Given the description of an element on the screen output the (x, y) to click on. 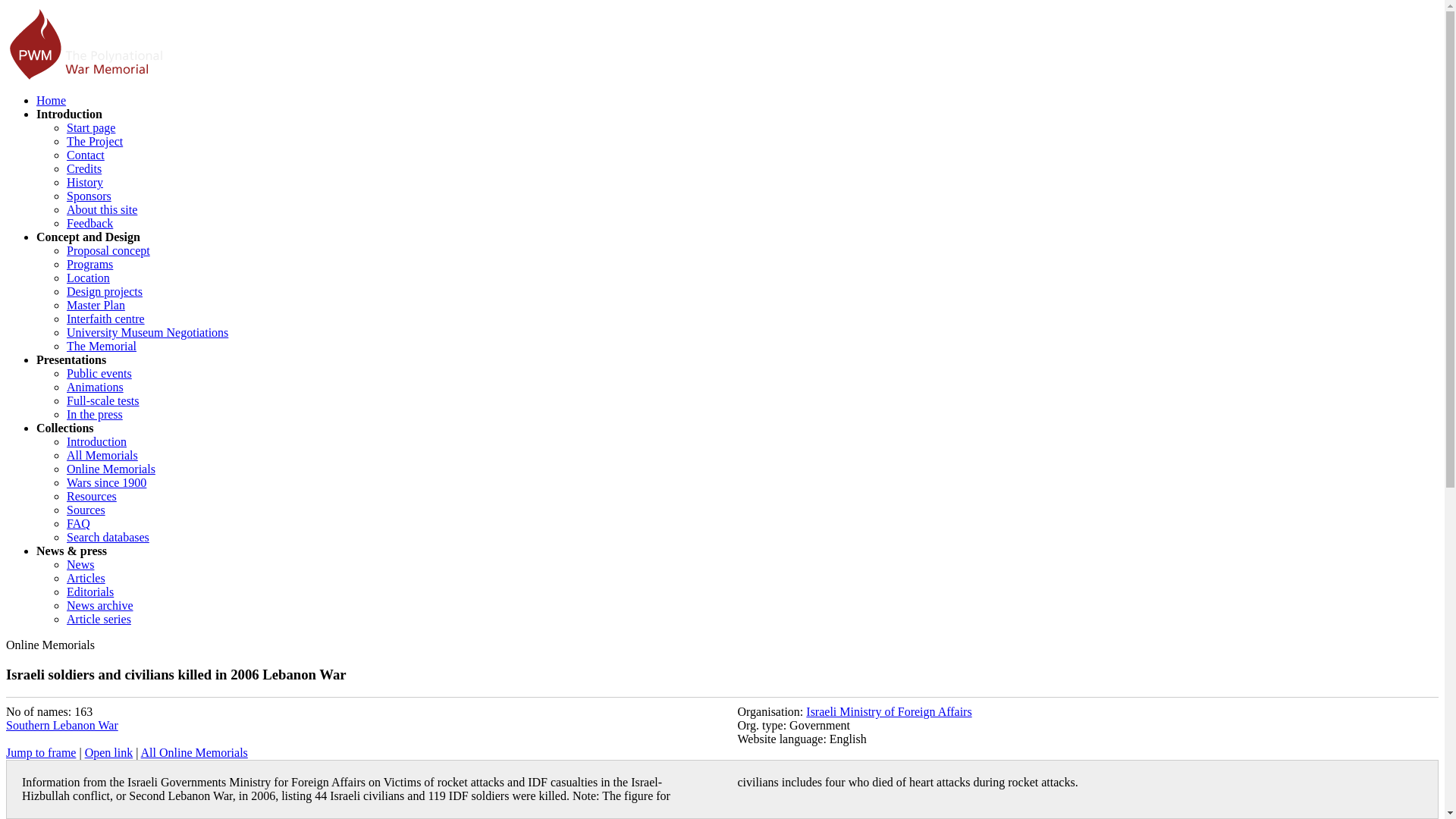
Concept and Design (87, 236)
Wars since 1900 (106, 481)
Location (88, 277)
Interfaith centre (105, 318)
Sources (85, 509)
Contact (85, 154)
About this site (101, 209)
The Memorial (101, 345)
Master Plan (95, 305)
Feedback (89, 223)
